Given the description of an element on the screen output the (x, y) to click on. 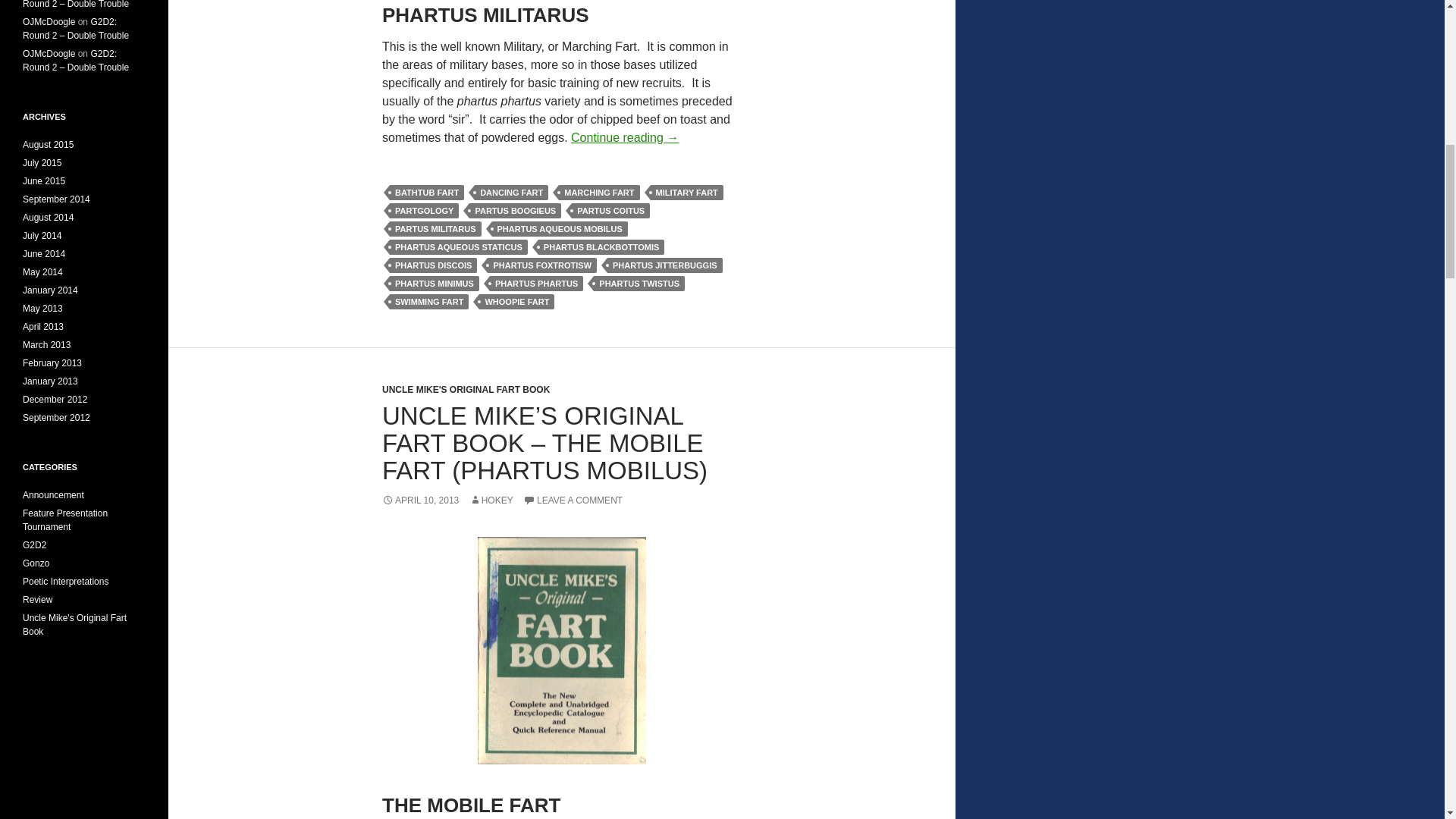
UNCLE MIKE'S ORIGINAL FART BOOK (465, 389)
APRIL 10, 2013 (419, 500)
PHARTUS BLACKBOTTOMIS (601, 246)
PHARTUS FOXTROTISW (541, 264)
PHARTUS TWISTUS (639, 283)
LEAVE A COMMENT (572, 500)
SWIMMING FART (429, 301)
PHARTUS DISCOIS (433, 264)
MILITARY FART (686, 192)
PARTGOLOGY (424, 210)
